Given the description of an element on the screen output the (x, y) to click on. 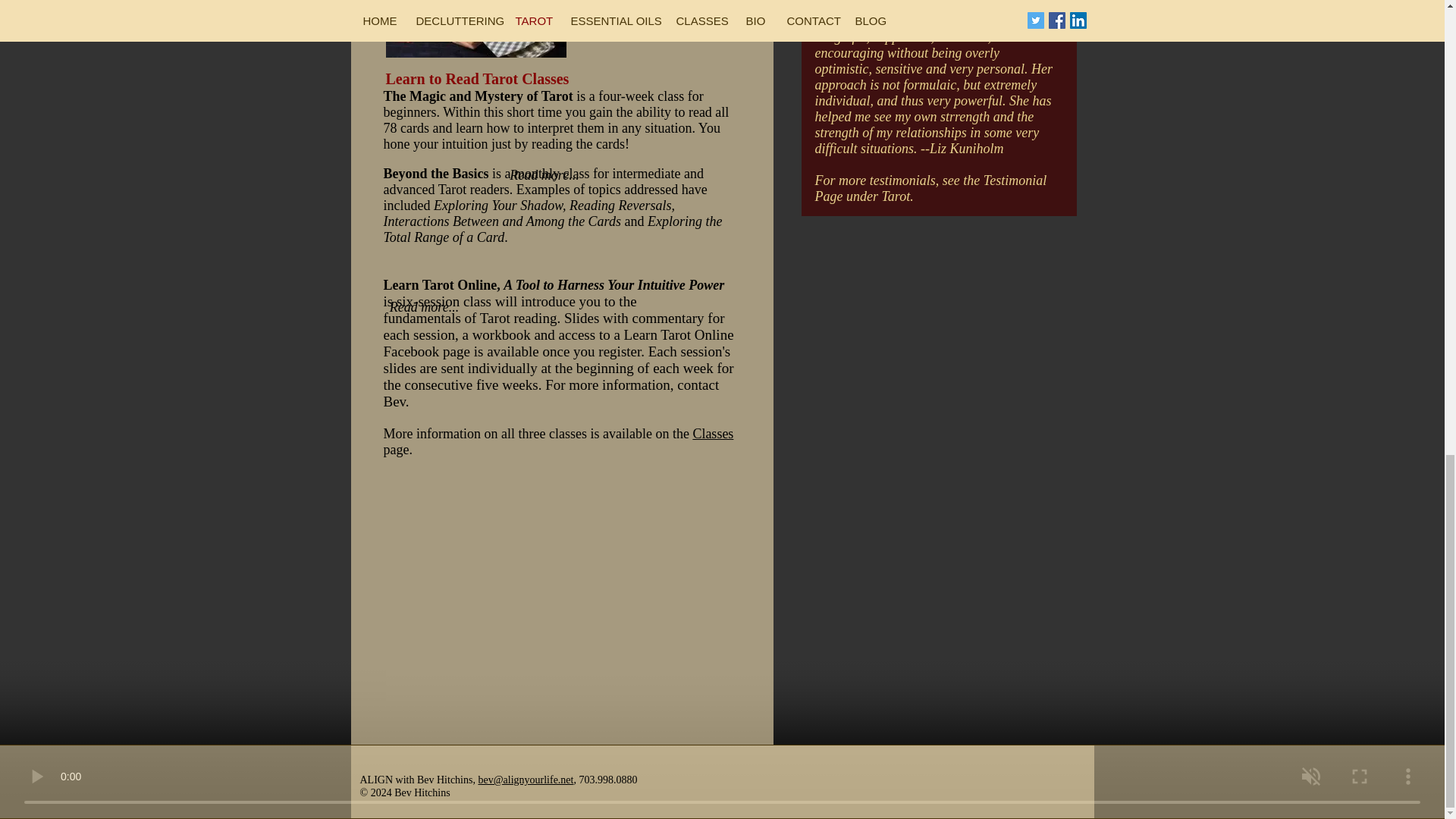
Read more... (544, 175)
Read more... (424, 307)
Classes (713, 433)
